Given the description of an element on the screen output the (x, y) to click on. 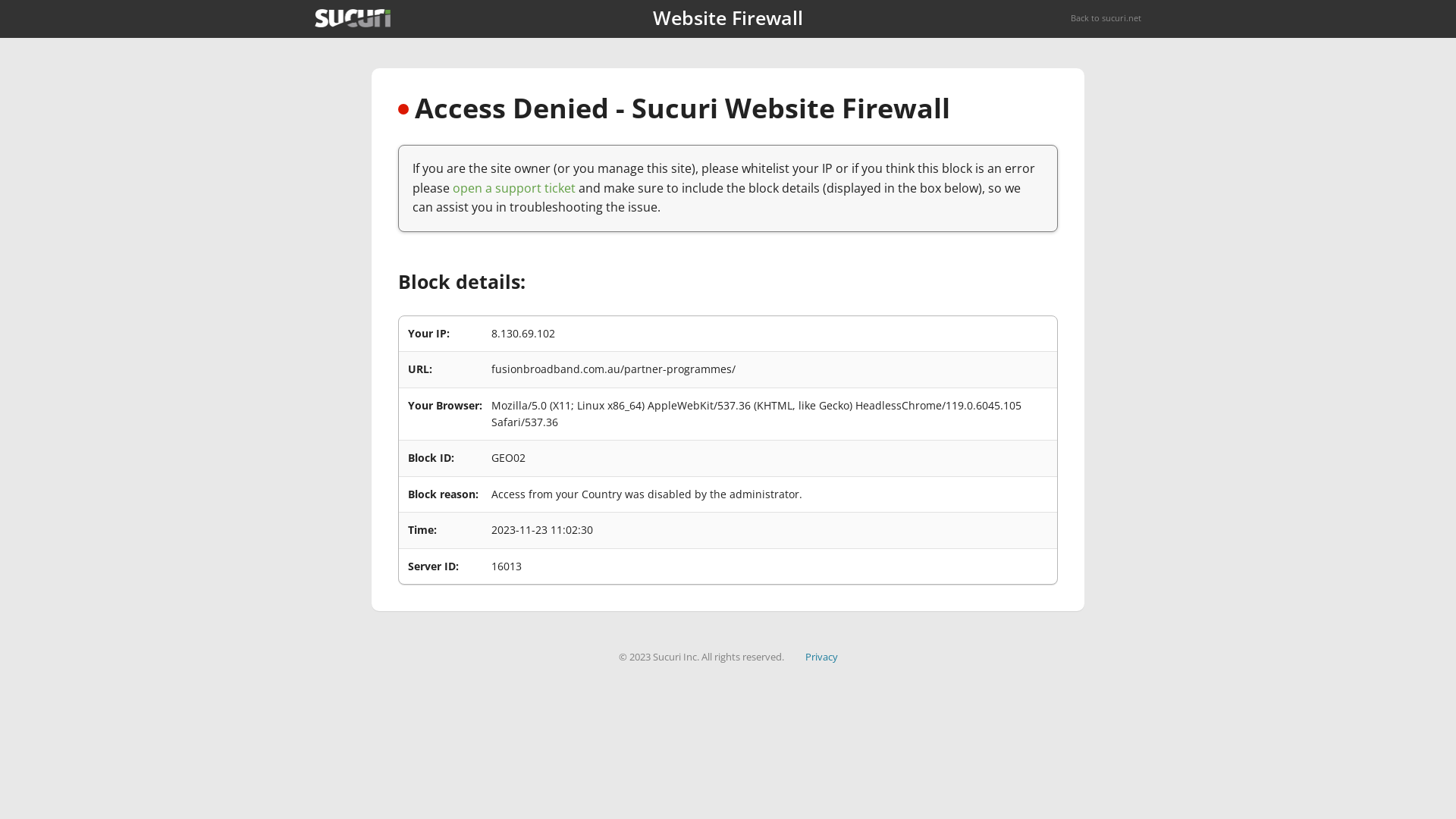
Privacy Element type: text (821, 656)
open a support ticket Element type: text (513, 187)
Back to sucuri.net Element type: text (1105, 18)
